Given the description of an element on the screen output the (x, y) to click on. 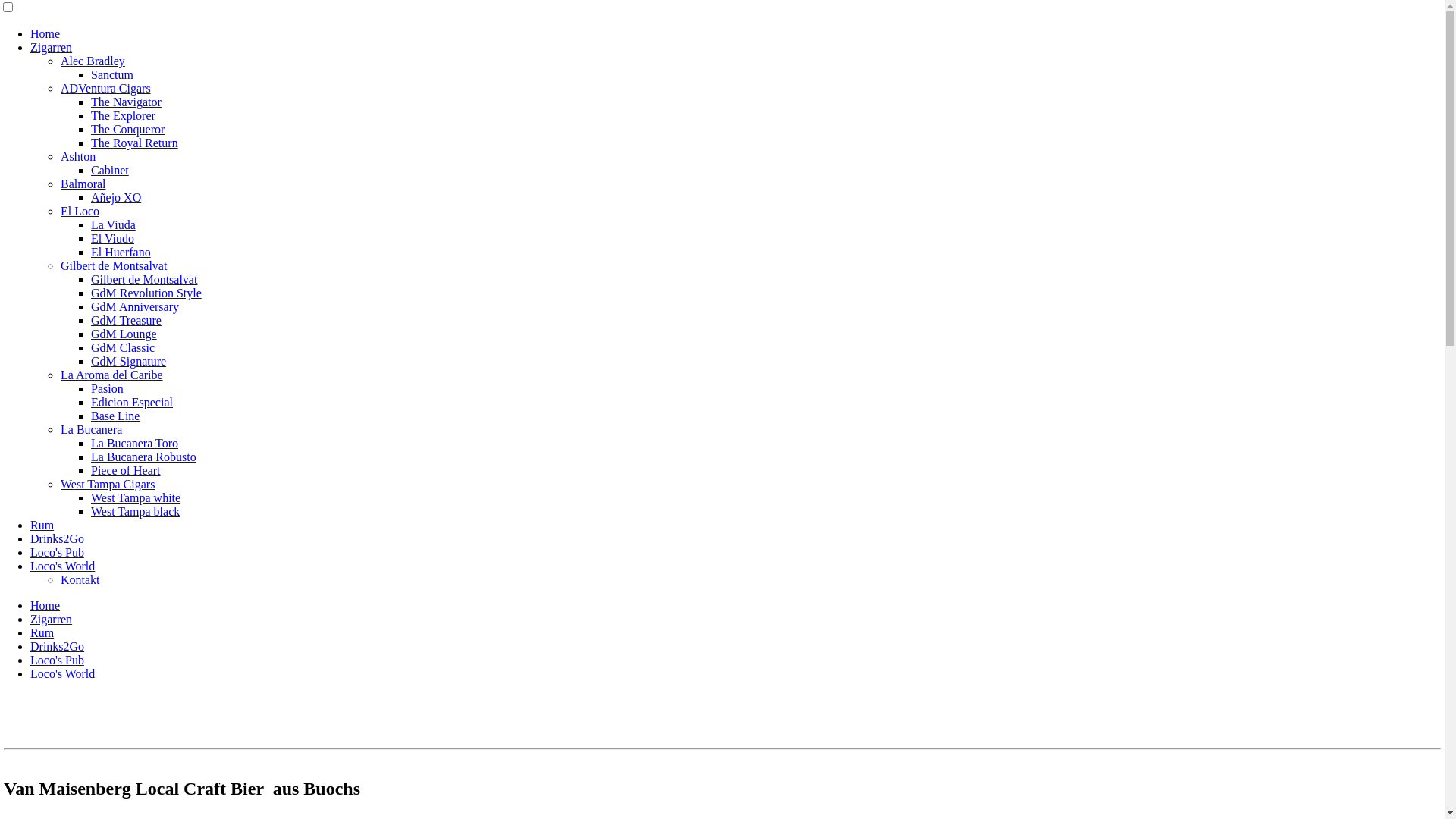
Gilbert de Montsalvat Element type: text (144, 279)
Piece of Heart Element type: text (125, 470)
Pasion Element type: text (107, 388)
Cabinet Element type: text (109, 169)
Loco's World Element type: text (62, 565)
Drinks2Go Element type: text (57, 538)
The Royal Return Element type: text (134, 142)
Drinks2Go Element type: text (57, 646)
La Bucanera Element type: text (91, 429)
El Loco Element type: text (79, 210)
Home Element type: text (44, 605)
The Explorer Element type: text (123, 115)
Loco's Pub Element type: text (57, 659)
West Tampa black Element type: text (135, 511)
GdM Lounge Element type: text (123, 333)
GdM Anniversary Element type: text (134, 306)
Gilbert de Montsalvat Element type: text (113, 265)
Alec Bradley Element type: text (92, 60)
Rum Element type: text (41, 632)
La Bucanera Robusto Element type: text (143, 456)
West Tampa white Element type: text (135, 497)
Loco's Pub Element type: text (57, 552)
Ashton Element type: text (77, 156)
Rum Element type: text (41, 524)
La Viuda Element type: text (113, 224)
GdM Treasure Element type: text (126, 319)
Zigarren Element type: text (51, 46)
West Tampa Cigars Element type: text (107, 483)
Edicion Especial Element type: text (131, 401)
Balmoral Element type: text (83, 183)
Loco's World Element type: text (62, 673)
The Navigator Element type: text (126, 101)
Zigarren Element type: text (51, 618)
Home Element type: text (44, 33)
ADVentura Cigars Element type: text (105, 87)
La Bucanera Toro Element type: text (134, 442)
El Viudo Element type: text (112, 238)
El Huerfano Element type: text (120, 251)
GdM Signature Element type: text (128, 360)
GdM Classic Element type: text (122, 347)
GdM Revolution Style Element type: text (146, 292)
Base Line Element type: text (115, 415)
Sanctum Element type: text (112, 74)
The Conqueror Element type: text (127, 128)
La Aroma del Caribe Element type: text (111, 374)
Kontakt Element type: text (80, 579)
